Given the description of an element on the screen output the (x, y) to click on. 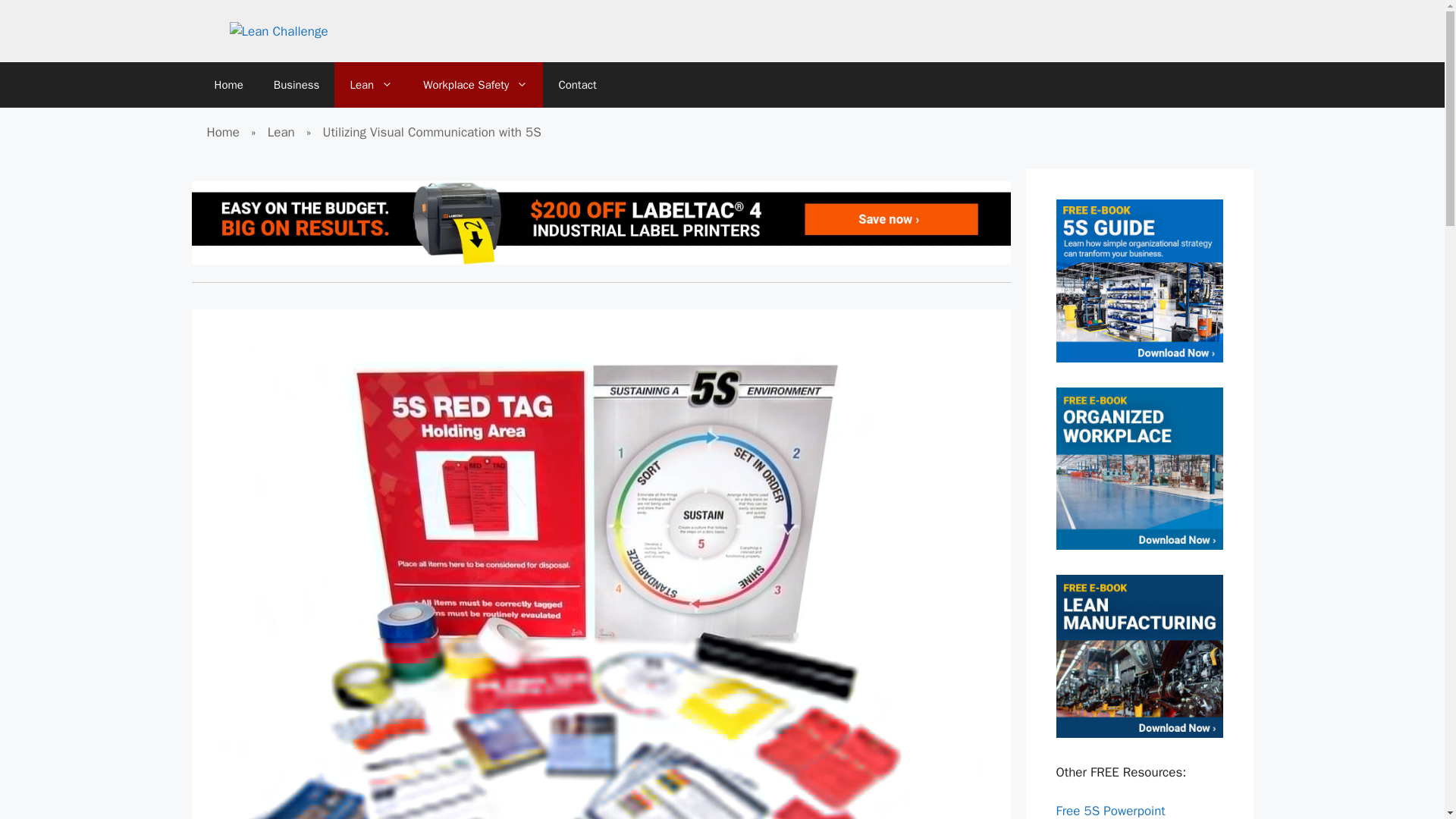
Workplace Safety (475, 84)
Lean (281, 132)
Business (296, 84)
Home (227, 84)
Contact (577, 84)
Home (222, 132)
Lean (370, 84)
Utilizing Visual Communication with 5S (432, 132)
